Given the description of an element on the screen output the (x, y) to click on. 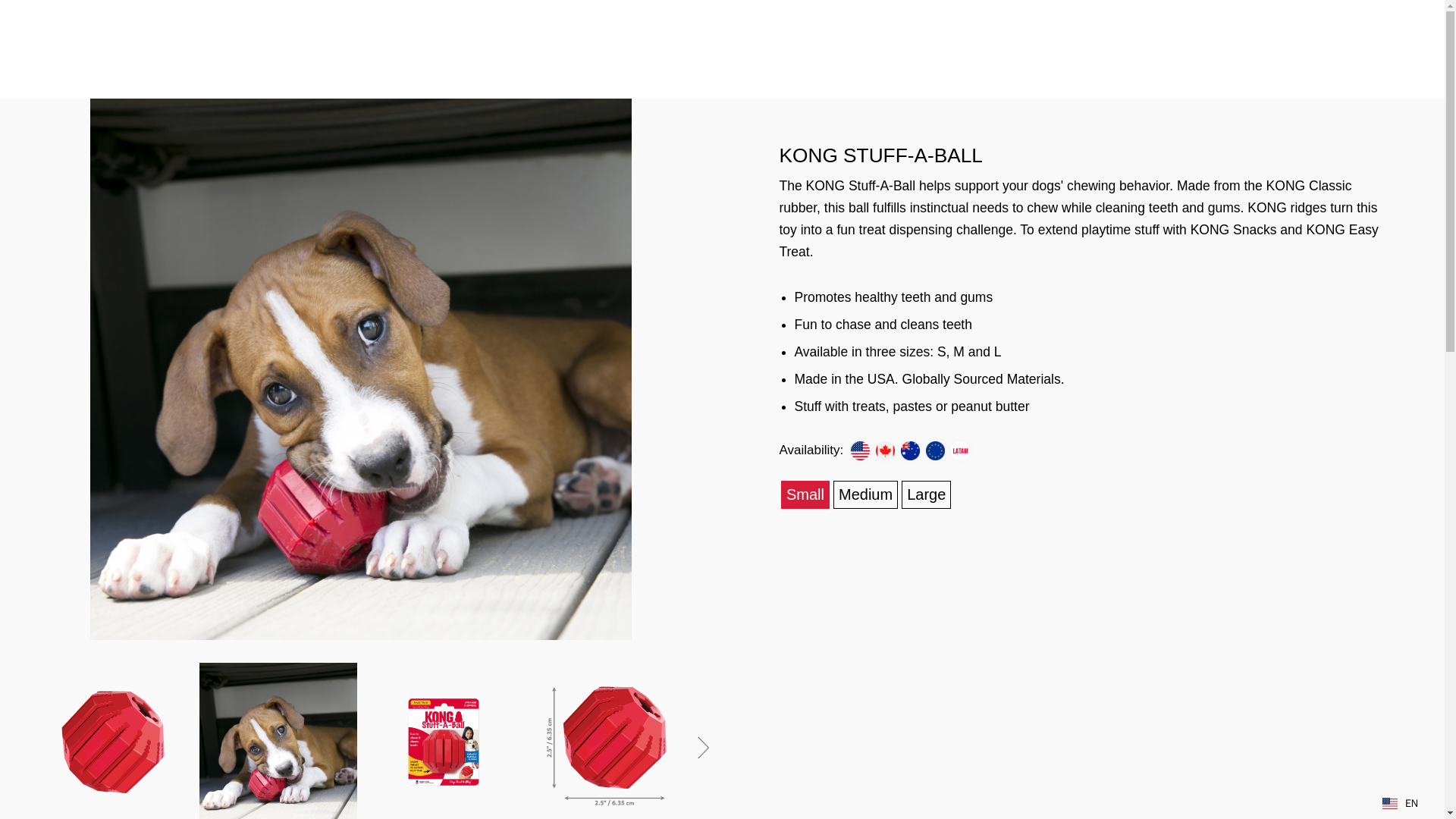
Medium (865, 494)
Small (804, 494)
Large (925, 494)
